Given the description of an element on the screen output the (x, y) to click on. 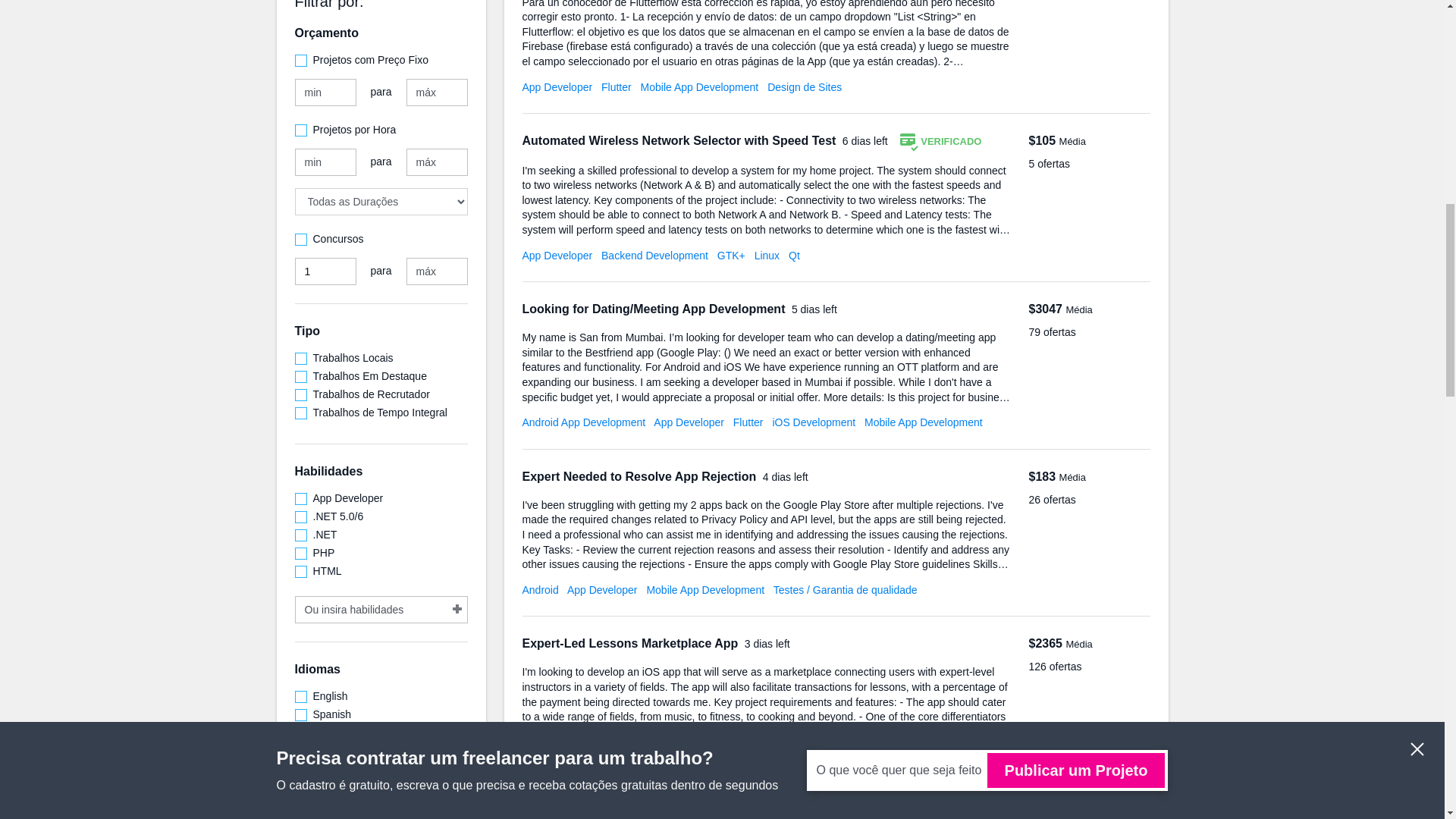
Mobile App Development (699, 87)
Backend Development (654, 255)
1 (324, 271)
App Developer (556, 87)
Design de Sites (804, 87)
Qt (794, 255)
Automated Wireless Network Selector with Speed Test (679, 140)
Flutter (616, 87)
Linux (766, 255)
App Developer (556, 255)
